Given the description of an element on the screen output the (x, y) to click on. 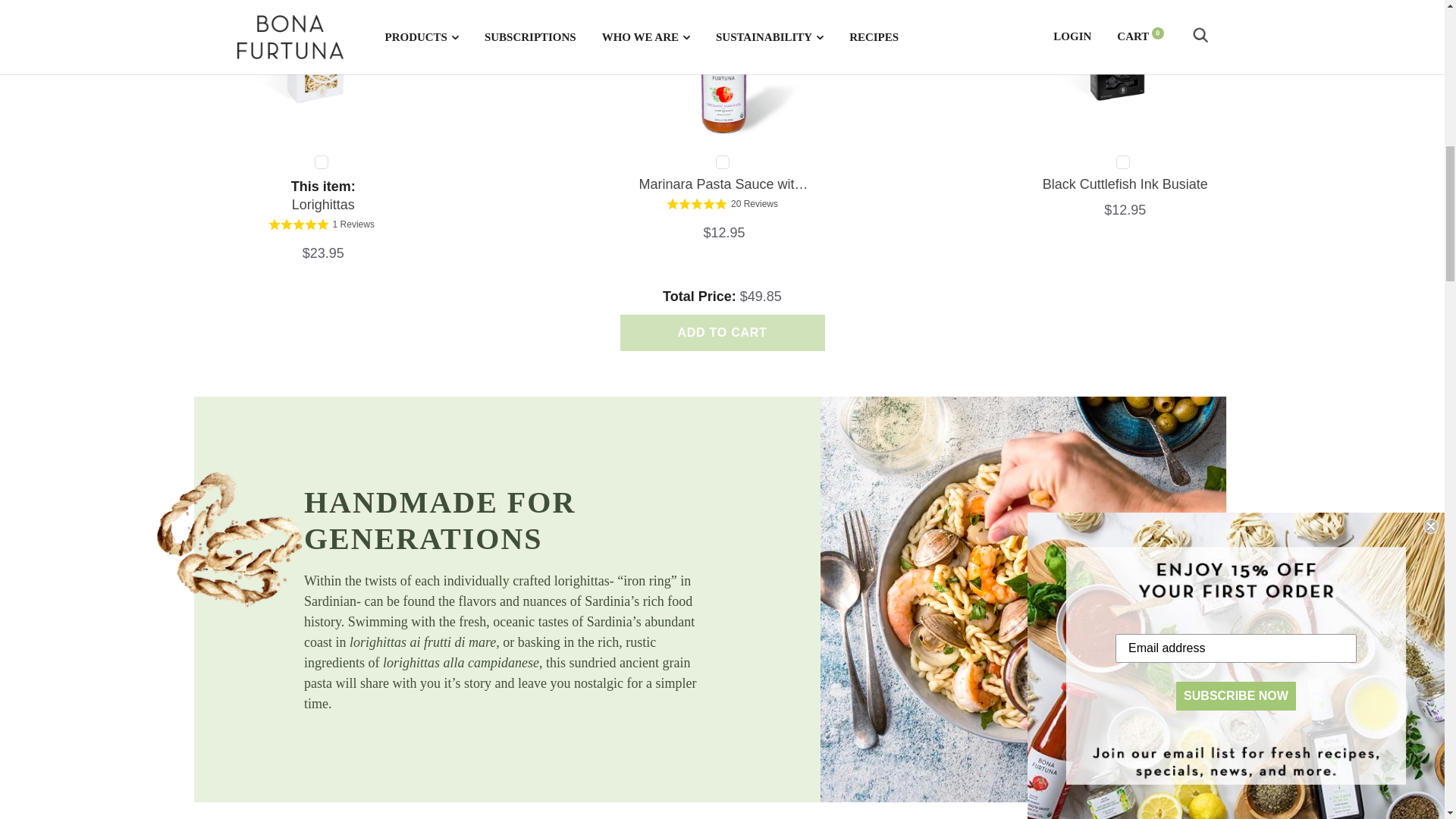
on (722, 161)
on (321, 161)
on (1122, 161)
